Given the description of an element on the screen output the (x, y) to click on. 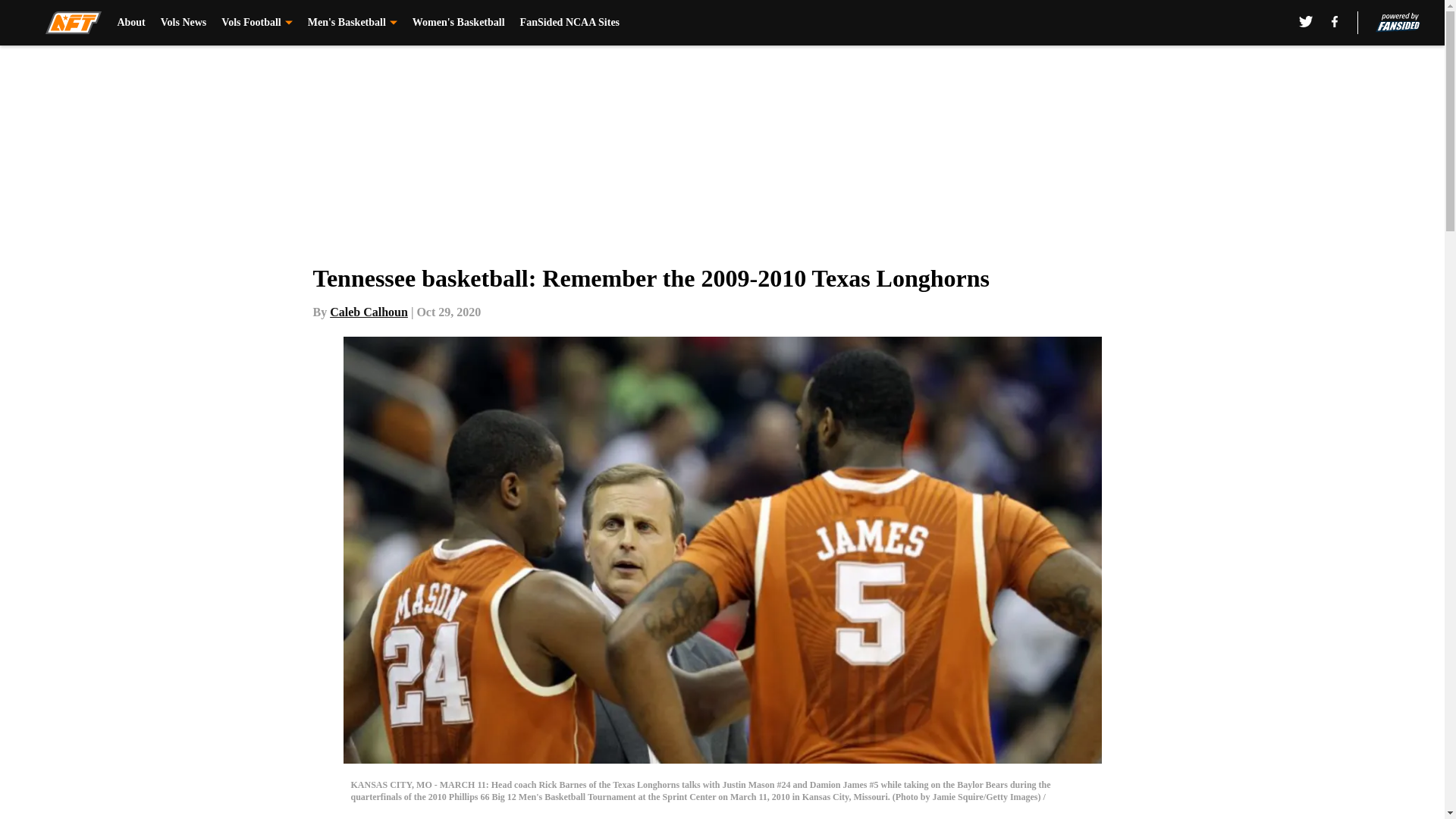
Women's Basketball (458, 22)
Vols News (183, 22)
Caleb Calhoun (368, 311)
About (130, 22)
FanSided NCAA Sites (569, 22)
